Given the description of an element on the screen output the (x, y) to click on. 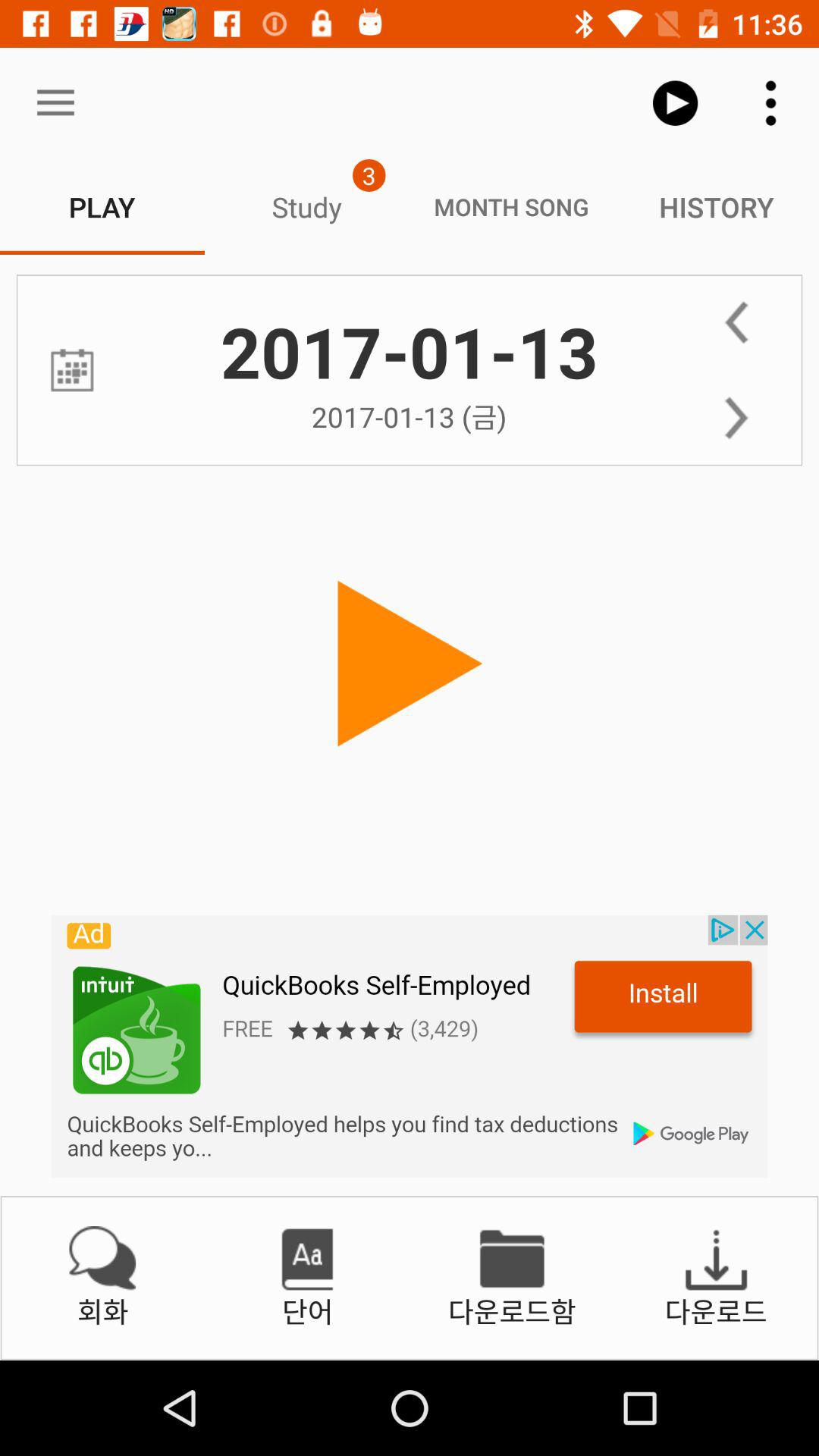
play button (409, 663)
